Given the description of an element on the screen output the (x, y) to click on. 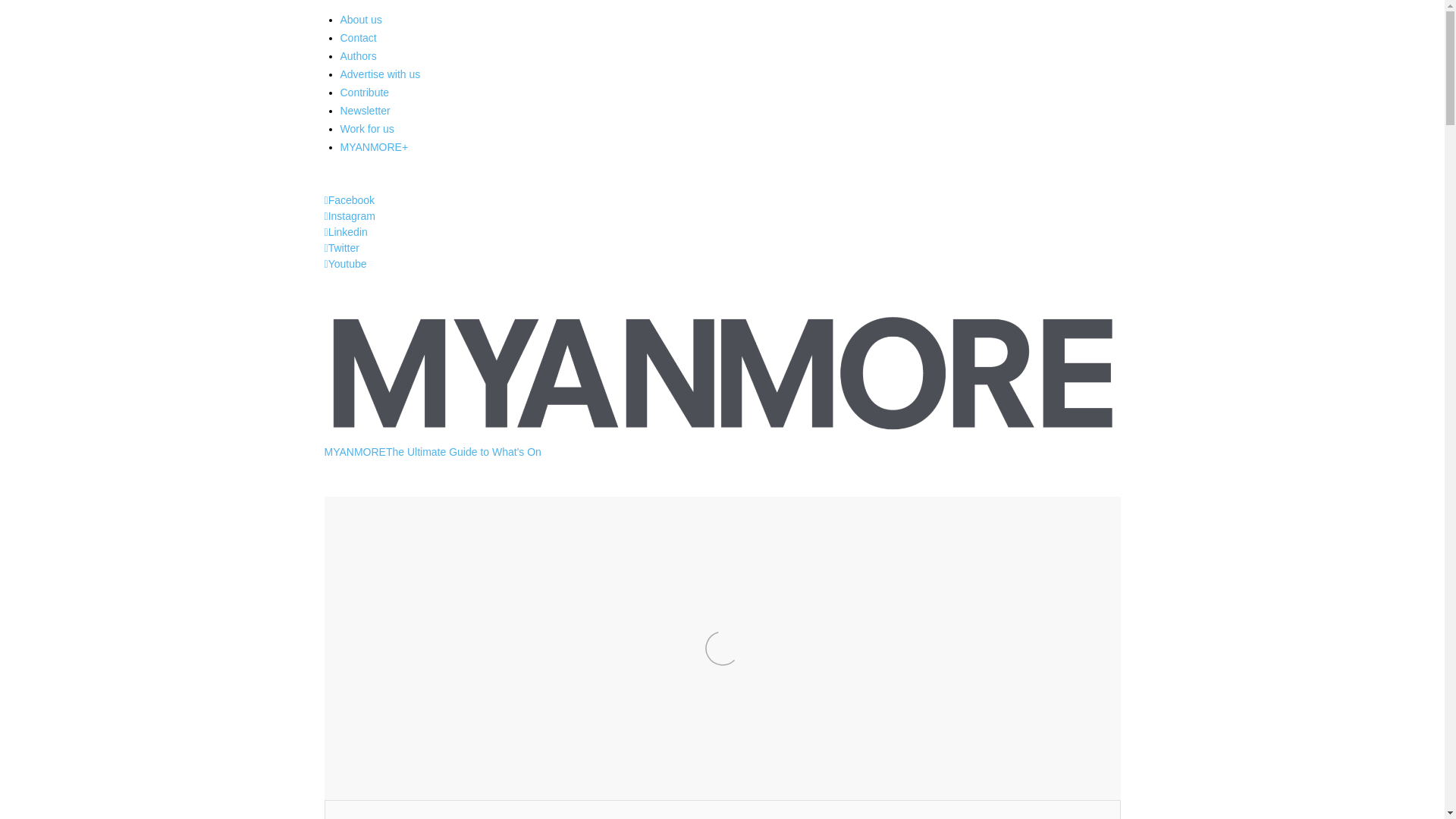
Instagram (349, 215)
Youtube (345, 263)
Facebook (349, 200)
Twitter (341, 247)
Linkedin (346, 232)
